Given the description of an element on the screen output the (x, y) to click on. 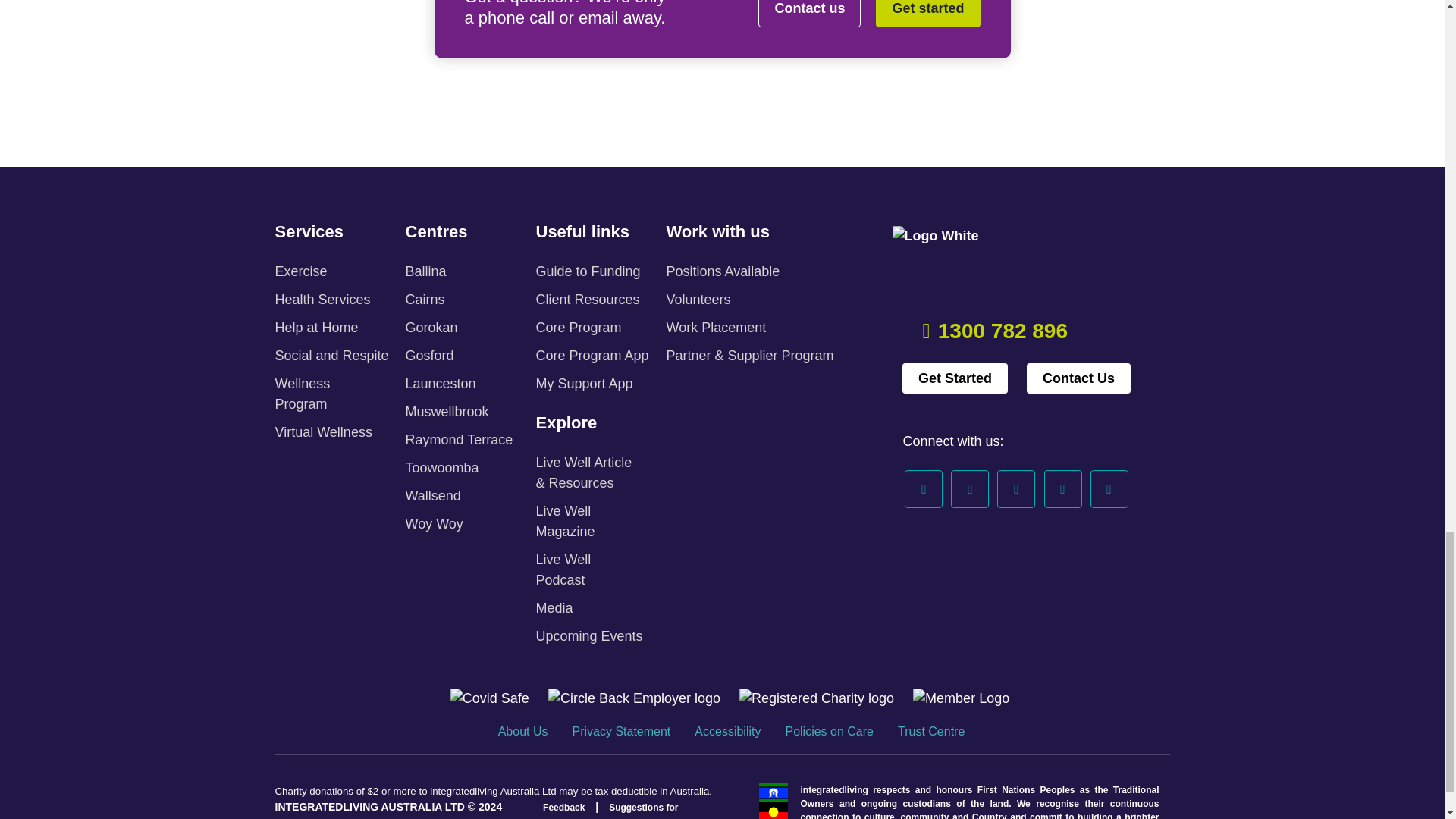
footer number (1002, 331)
